Given the description of an element on the screen output the (x, y) to click on. 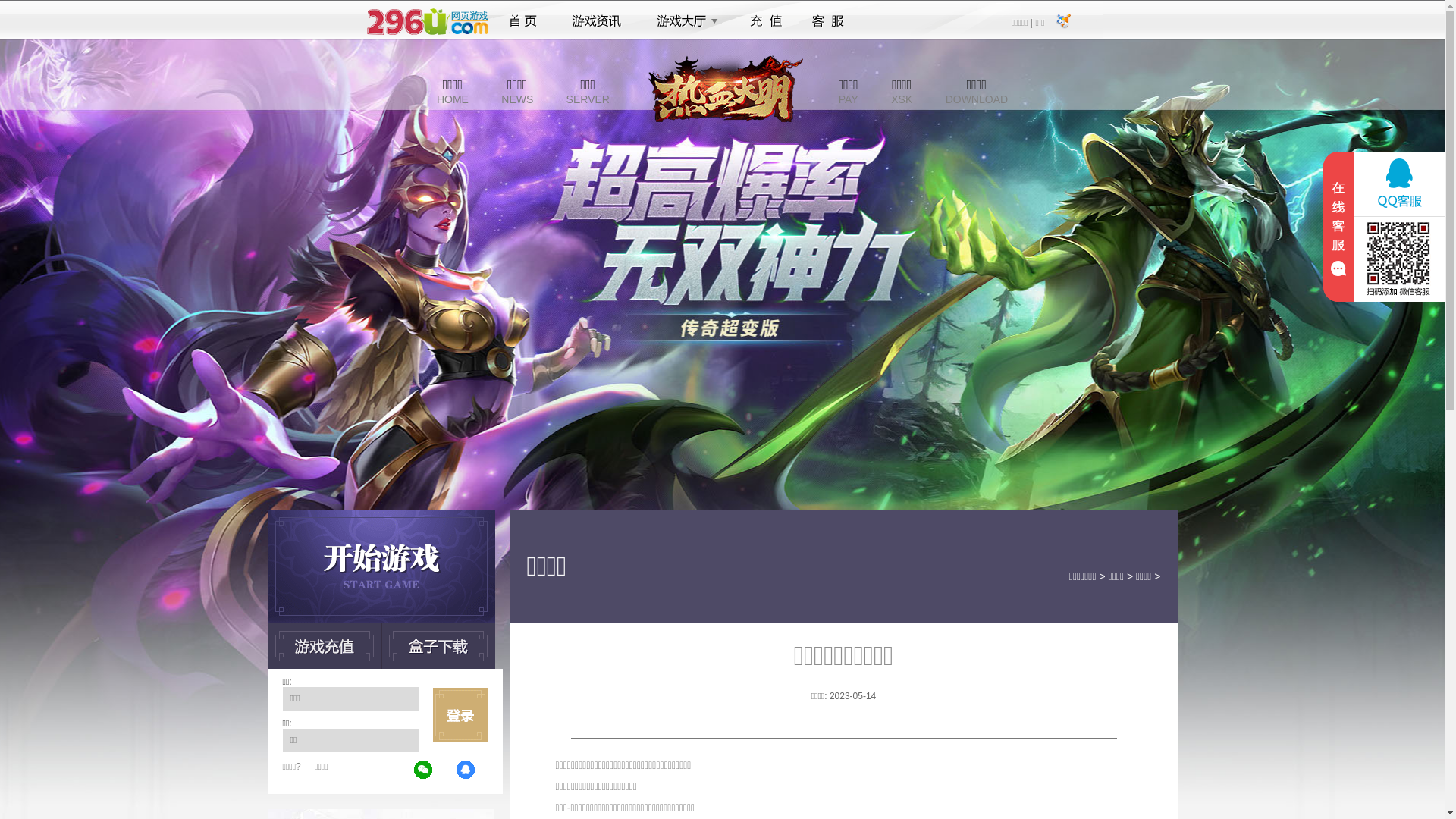
QQ Element type: hover (466, 770)
